Given the description of an element on the screen output the (x, y) to click on. 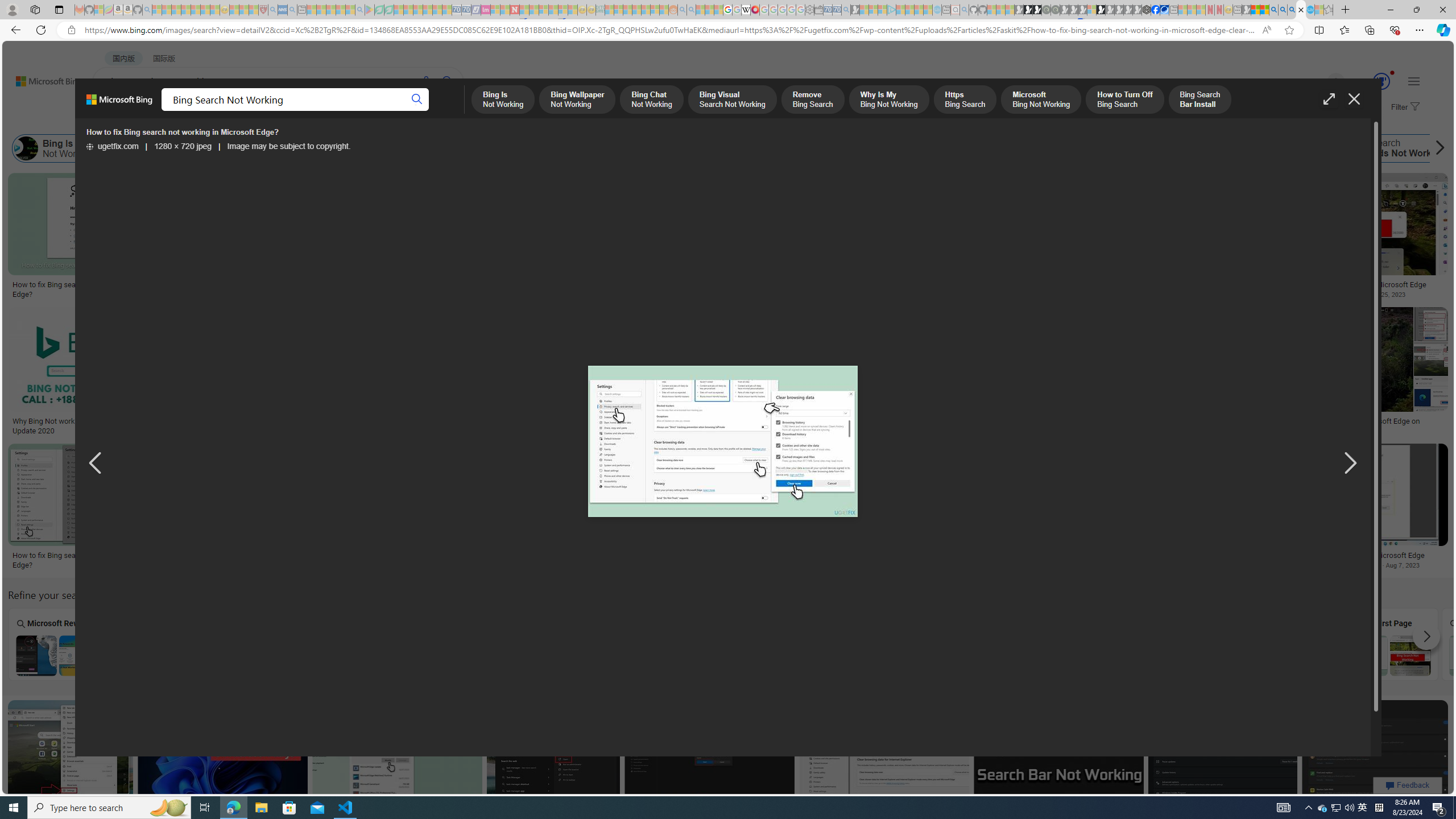
Bing Visual Search Not Working Visual (774, 643)
Work (1286, 643)
Bing Exact Search Not Working Exact (978, 643)
Microsoft Bing, Back to Bing search (118, 104)
Why Is My Bing Not Working (598, 148)
WEB (114, 111)
Bing Visual Search Not Working (381, 148)
Target page - Wikipedia (745, 9)
Fix Bing Search Not Working in Microsoft Edge (6 Easy Ways) (470, 289)
Microsoft Rewards Bing Search Not Working Microsoft Rewards (57, 643)
